Given the description of an element on the screen output the (x, y) to click on. 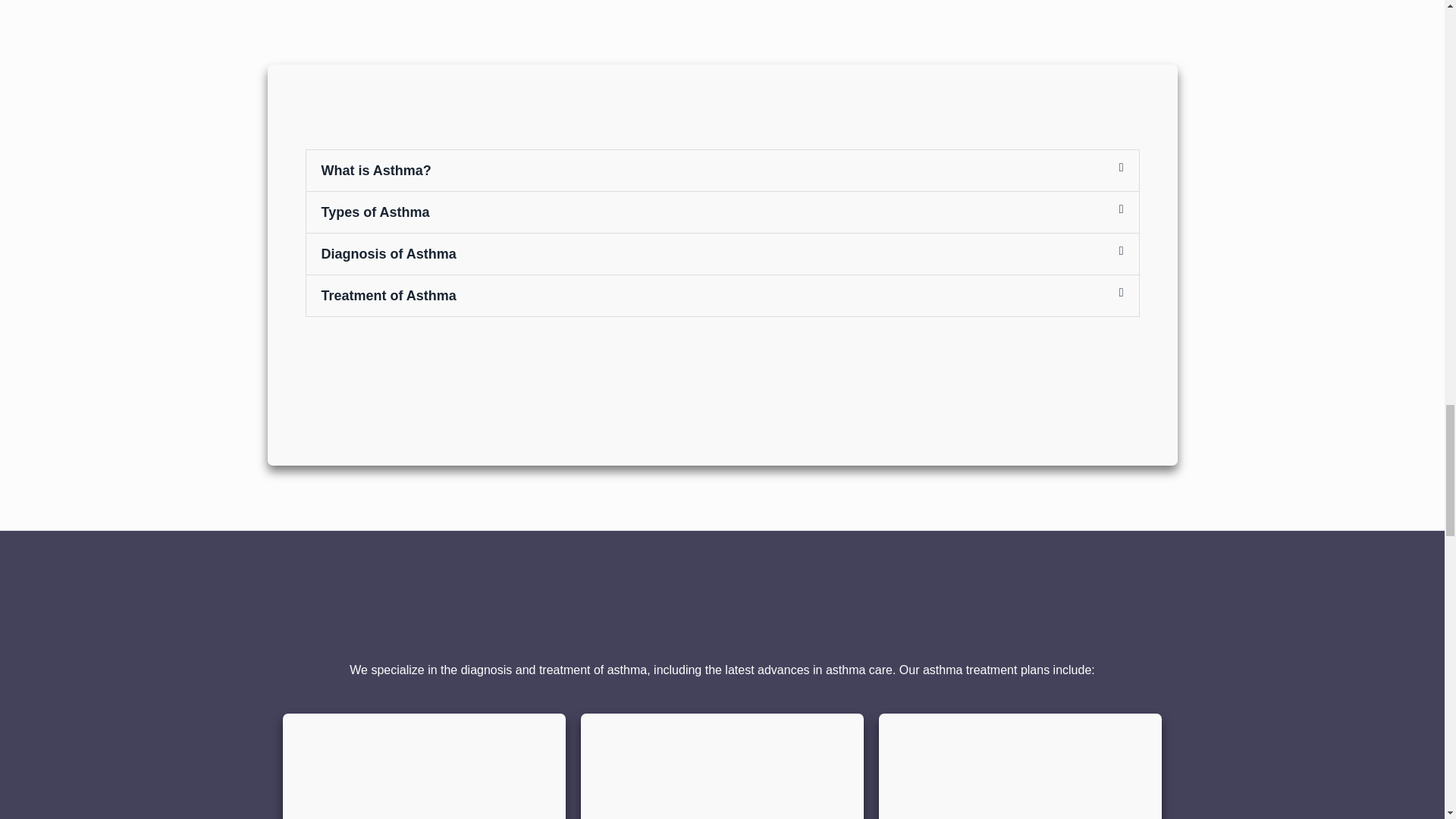
Diagnosis of Asthma (389, 253)
Treatment of Asthma (389, 295)
Types of Asthma (375, 212)
What is Asthma? (375, 170)
